Given the description of an element on the screen output the (x, y) to click on. 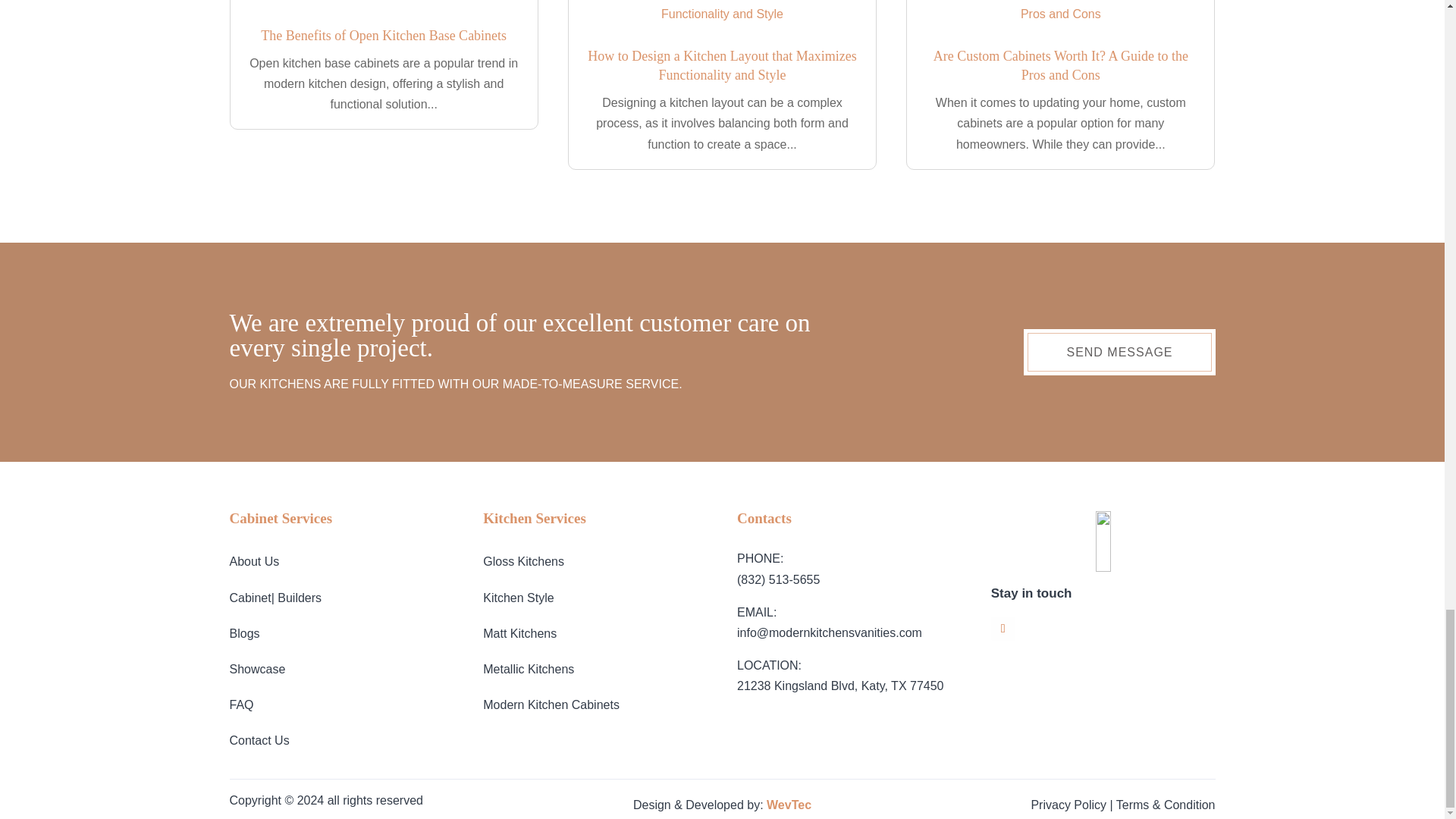
modern-logo Bold (1102, 541)
The Benefits of Open Kitchen Base Cabinets (383, 35)
Follow on Facebook (1002, 628)
Are Custom Cabinets Worth It? A Guide to the Pros and Cons (1060, 65)
